Given the description of an element on the screen output the (x, y) to click on. 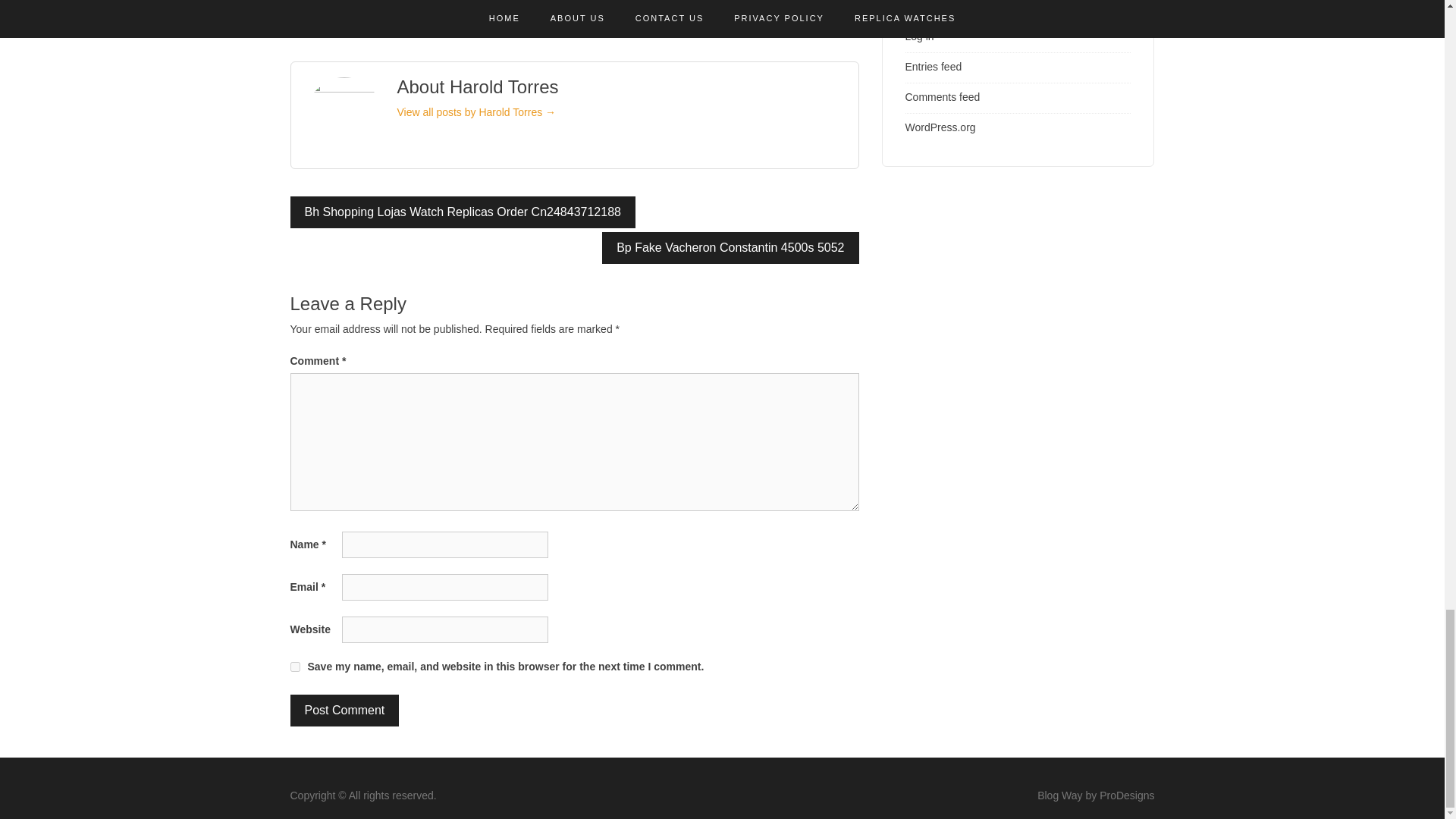
Bh Shopping Lojas Watch Replicas Order Cn24843712188 (461, 212)
Pulsera De Clavo IWC Topgun Replica Movie Download (752, 7)
Post Comment (343, 710)
yes (294, 666)
Post Comment (343, 710)
Bp Fake Vacheron Constantin 4500s 5052 (730, 247)
